Given the description of an element on the screen output the (x, y) to click on. 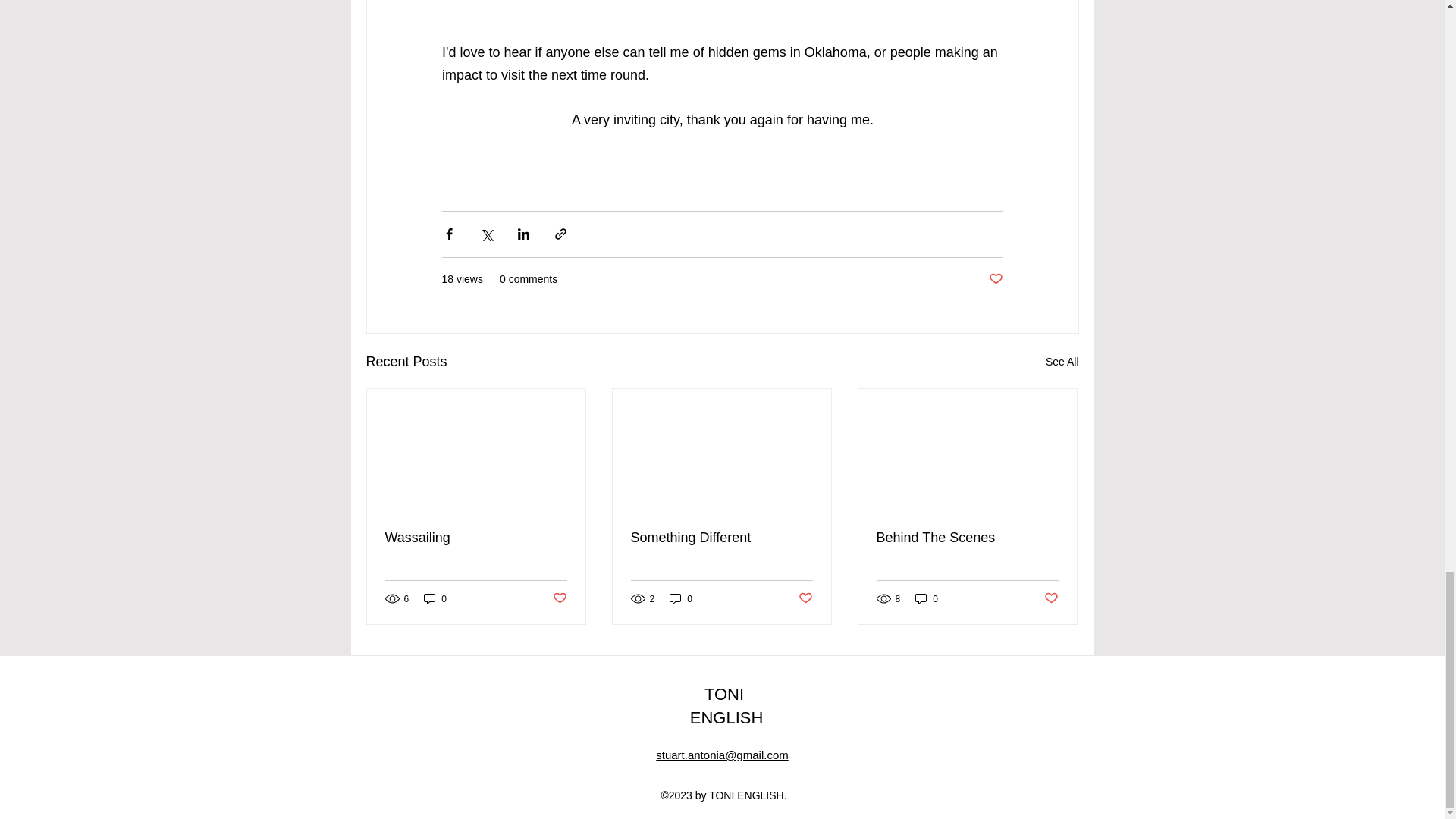
Post not marked as liked (995, 279)
Post not marked as liked (804, 598)
0 (435, 598)
Something Different (721, 537)
Post not marked as liked (558, 598)
Post not marked as liked (1050, 598)
Wassailing (476, 537)
Behind The Scenes (967, 537)
0 (926, 598)
0 (681, 598)
